Given the description of an element on the screen output the (x, y) to click on. 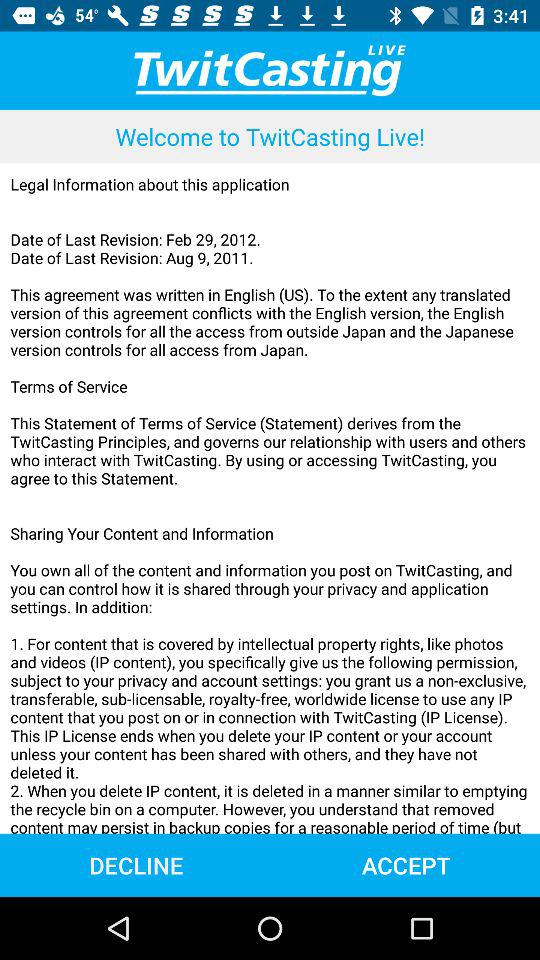
jump to the accept icon (406, 864)
